Given the description of an element on the screen output the (x, y) to click on. 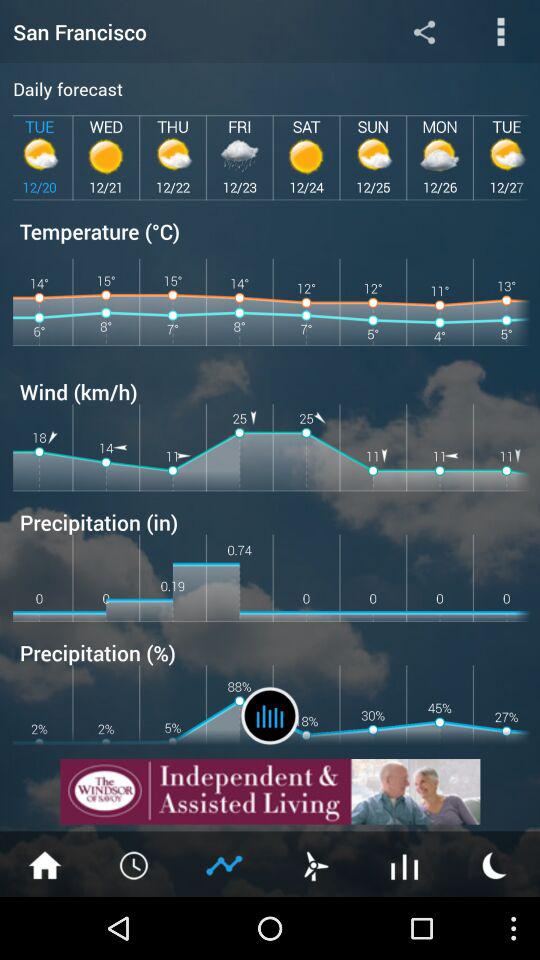
open settings (500, 31)
